Given the description of an element on the screen output the (x, y) to click on. 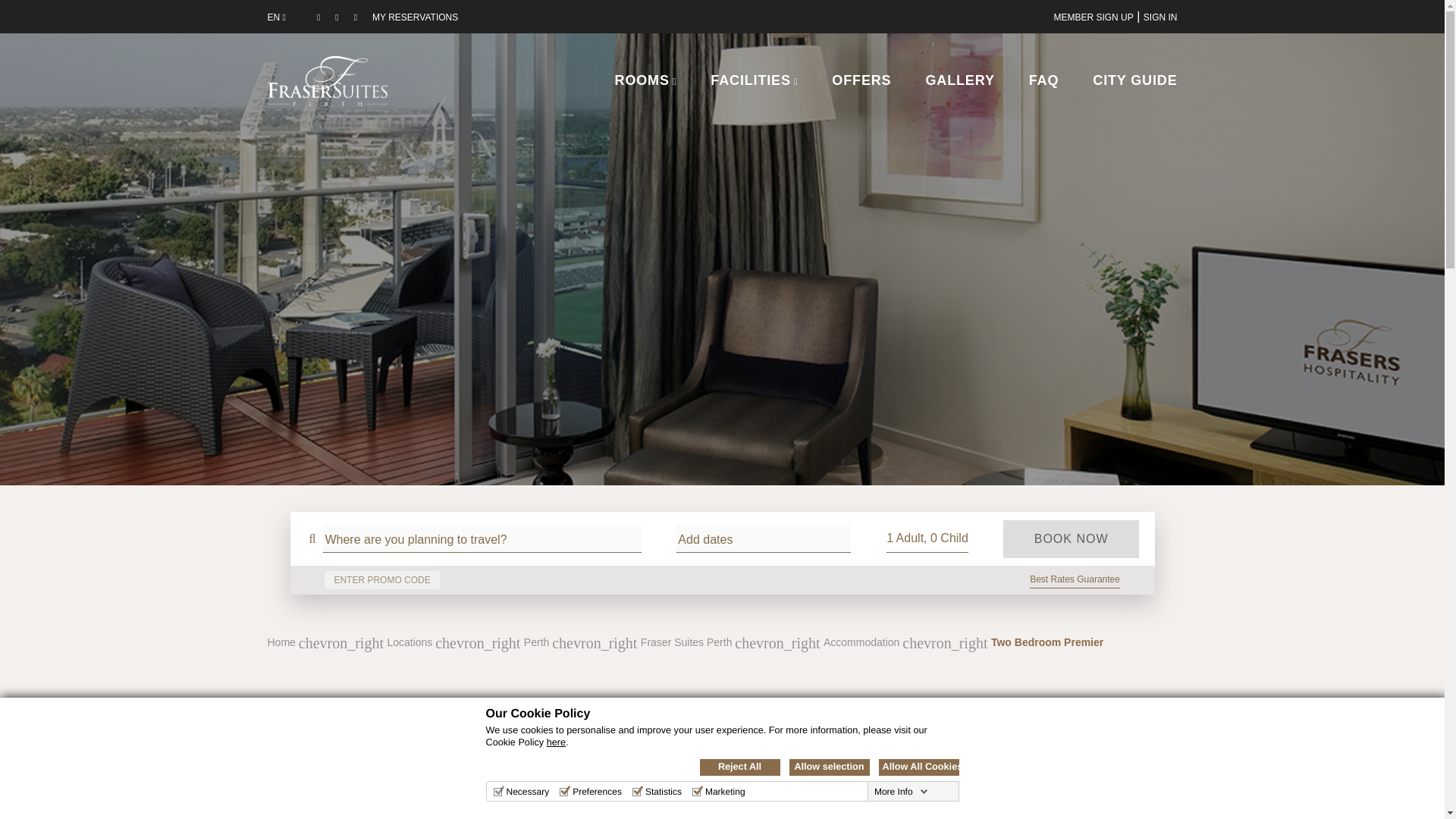
Allow All Cookies (917, 767)
Reject All (738, 767)
Allow selection (829, 767)
here (556, 742)
More Info (900, 791)
